Given the description of an element on the screen output the (x, y) to click on. 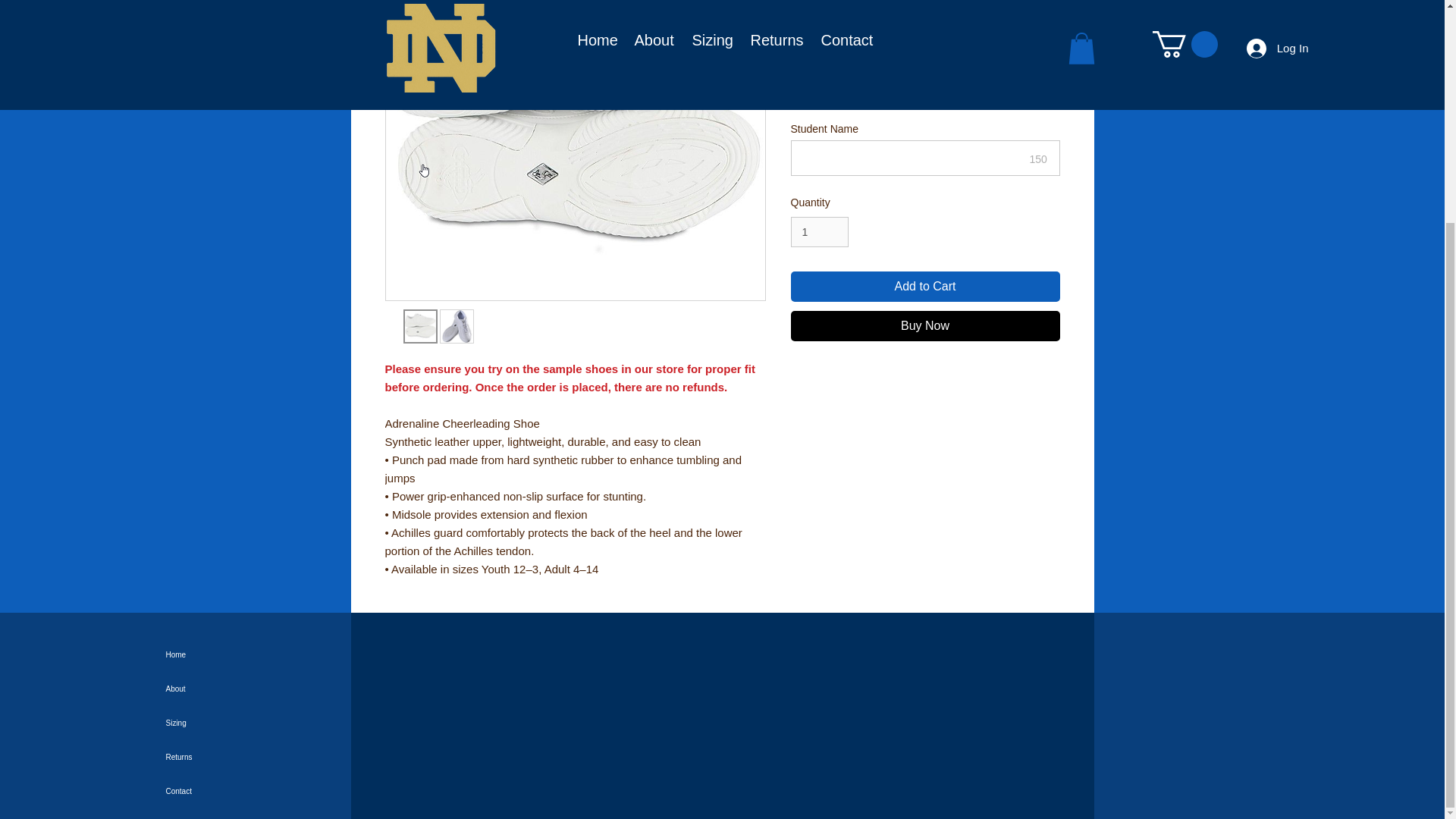
About (232, 688)
Returns (232, 756)
1 (818, 232)
Contact (232, 790)
Sizing (232, 722)
Select (924, 21)
Buy Now (924, 326)
Add to Cart (924, 286)
Home (232, 654)
